Given the description of an element on the screen output the (x, y) to click on. 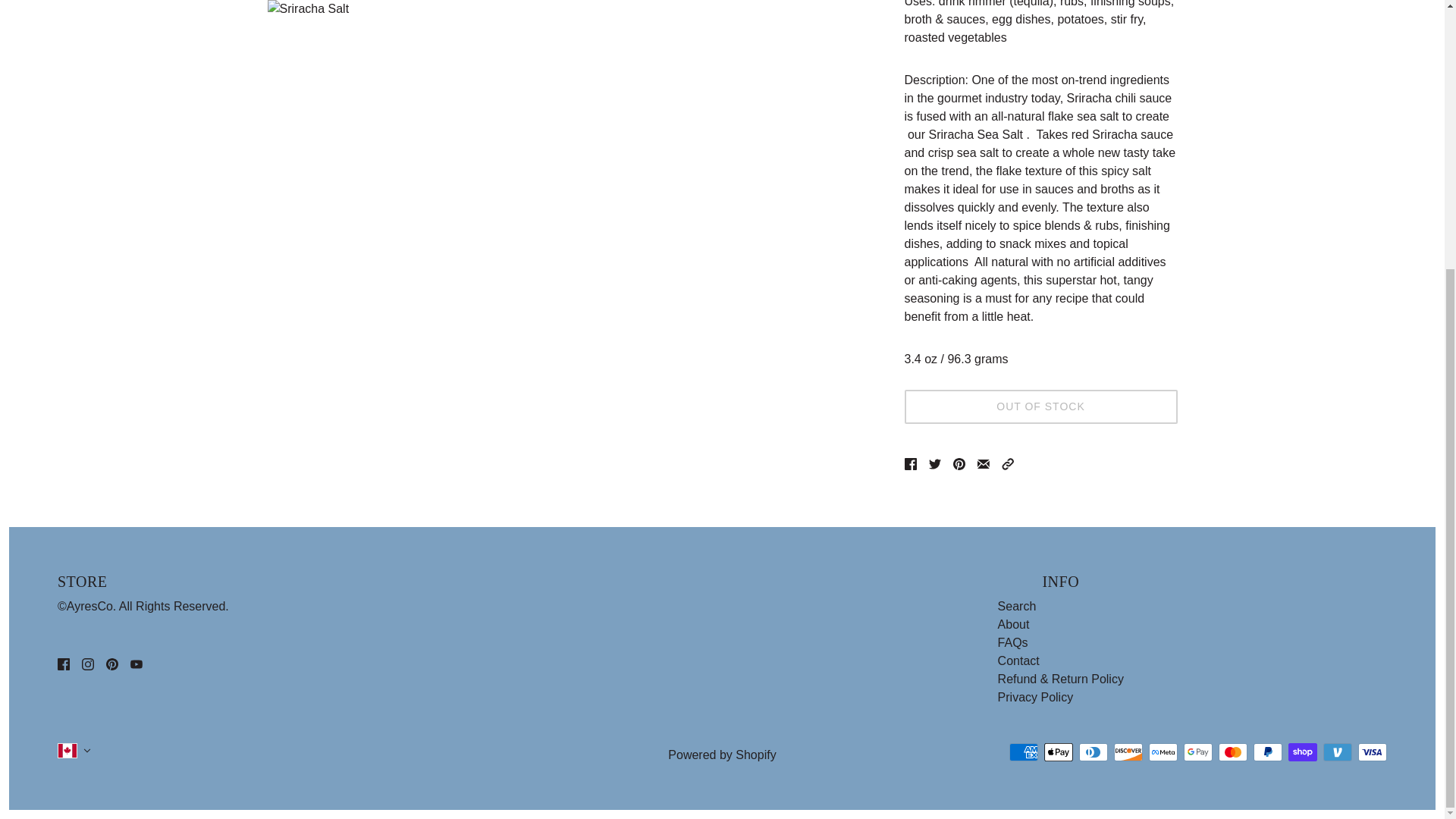
Contact (1018, 660)
Privacy Policy (1035, 697)
About (1013, 624)
FAQs (1012, 642)
